Given the description of an element on the screen output the (x, y) to click on. 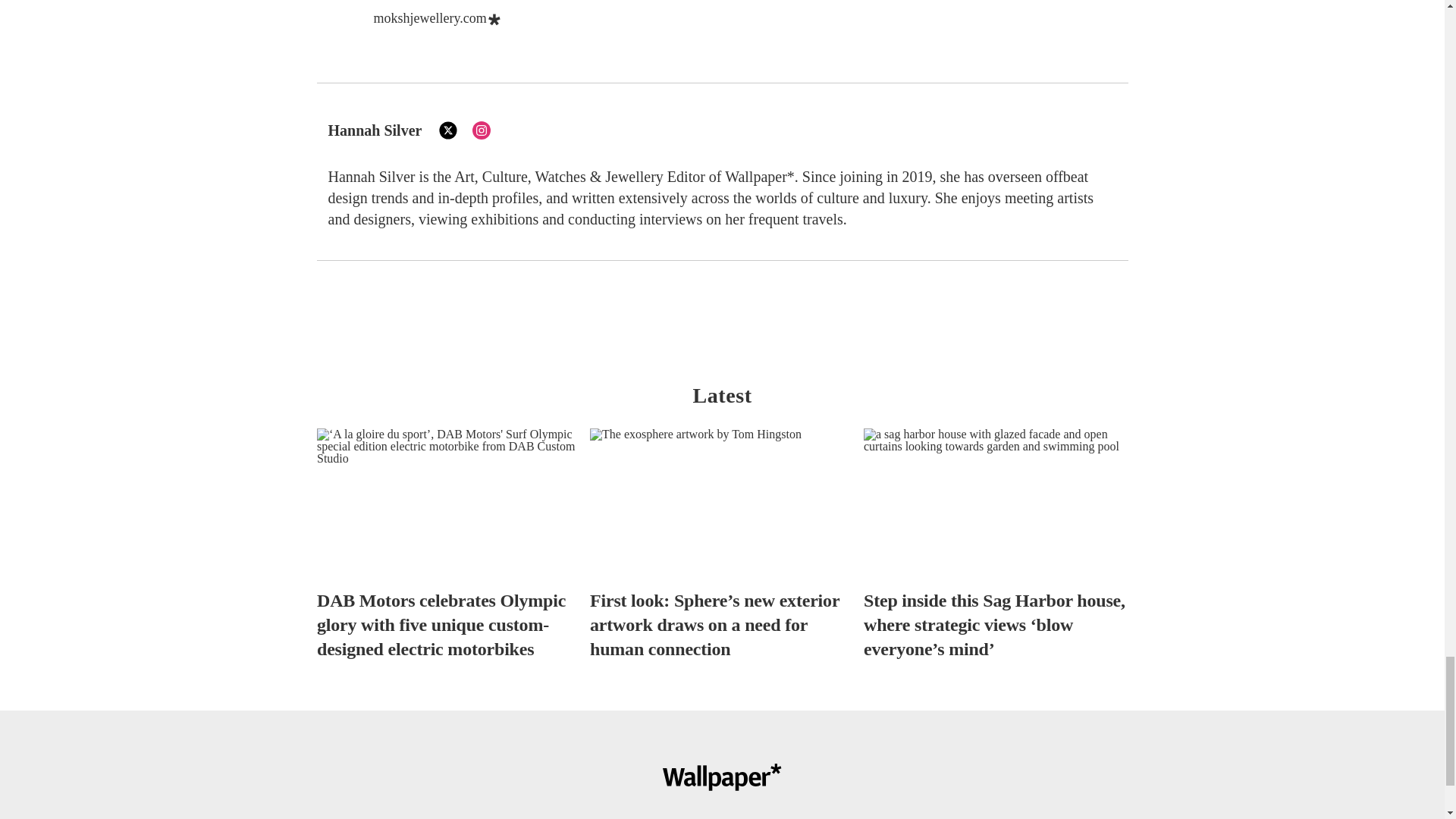
mokshjewellery.com (429, 17)
Hannah Silver (374, 130)
